Given the description of an element on the screen output the (x, y) to click on. 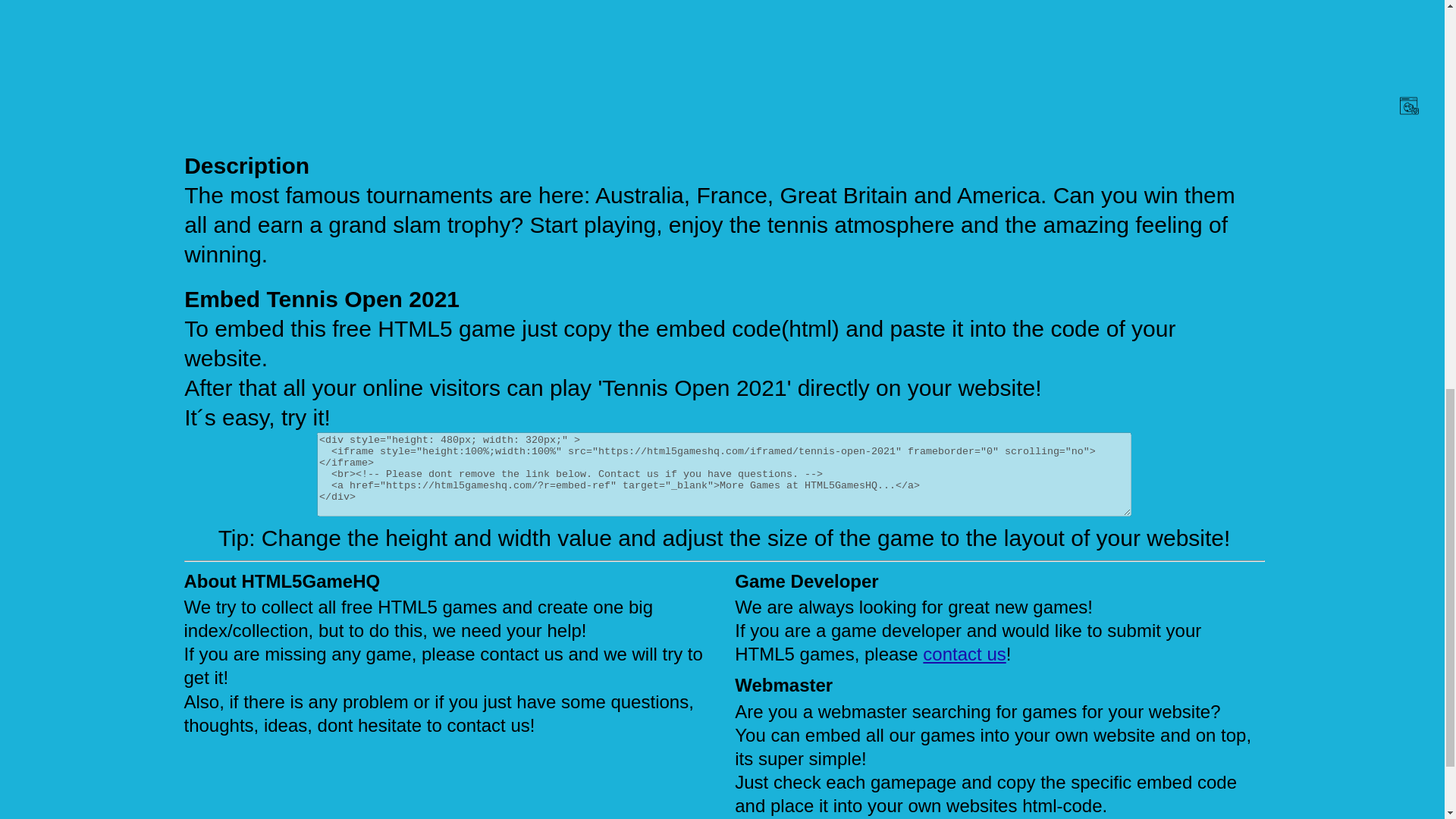
contact us (964, 653)
